Given the description of an element on the screen output the (x, y) to click on. 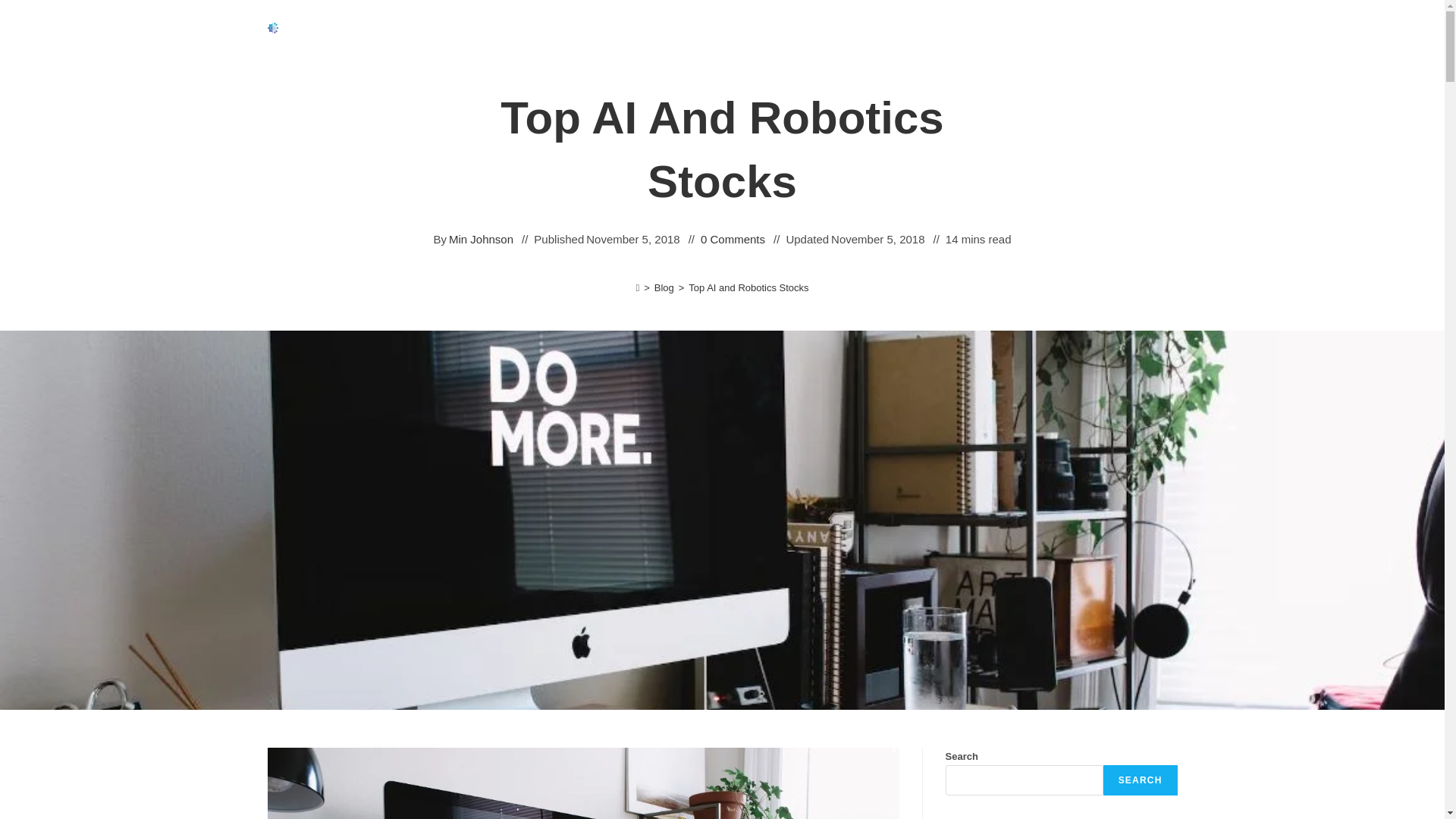
Min Johnson (480, 239)
Top AI and Robotics Stocks (748, 287)
Blog (663, 287)
0 Comments (732, 239)
